Given the description of an element on the screen output the (x, y) to click on. 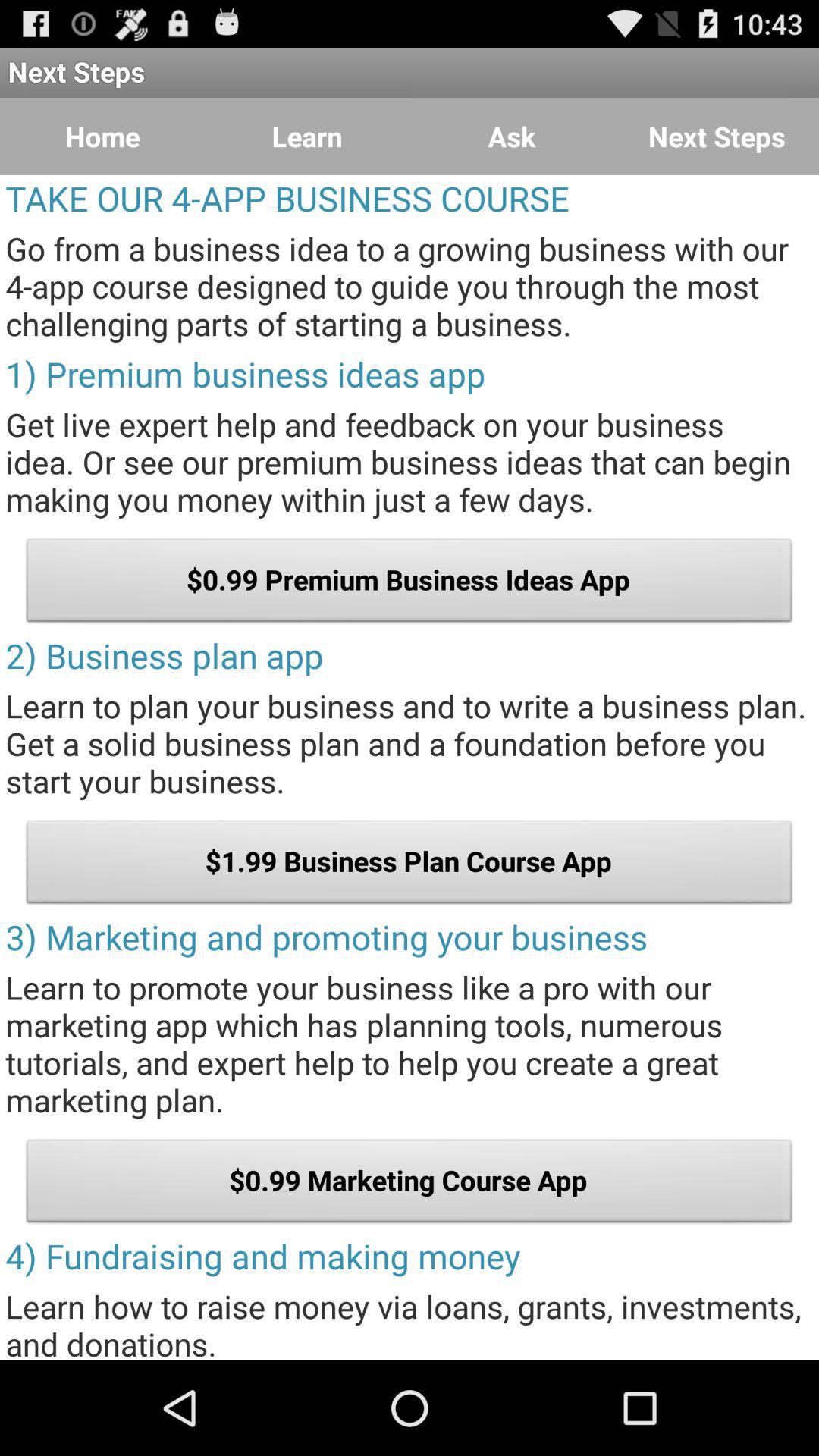
turn off item next to learn (511, 136)
